Given the description of an element on the screen output the (x, y) to click on. 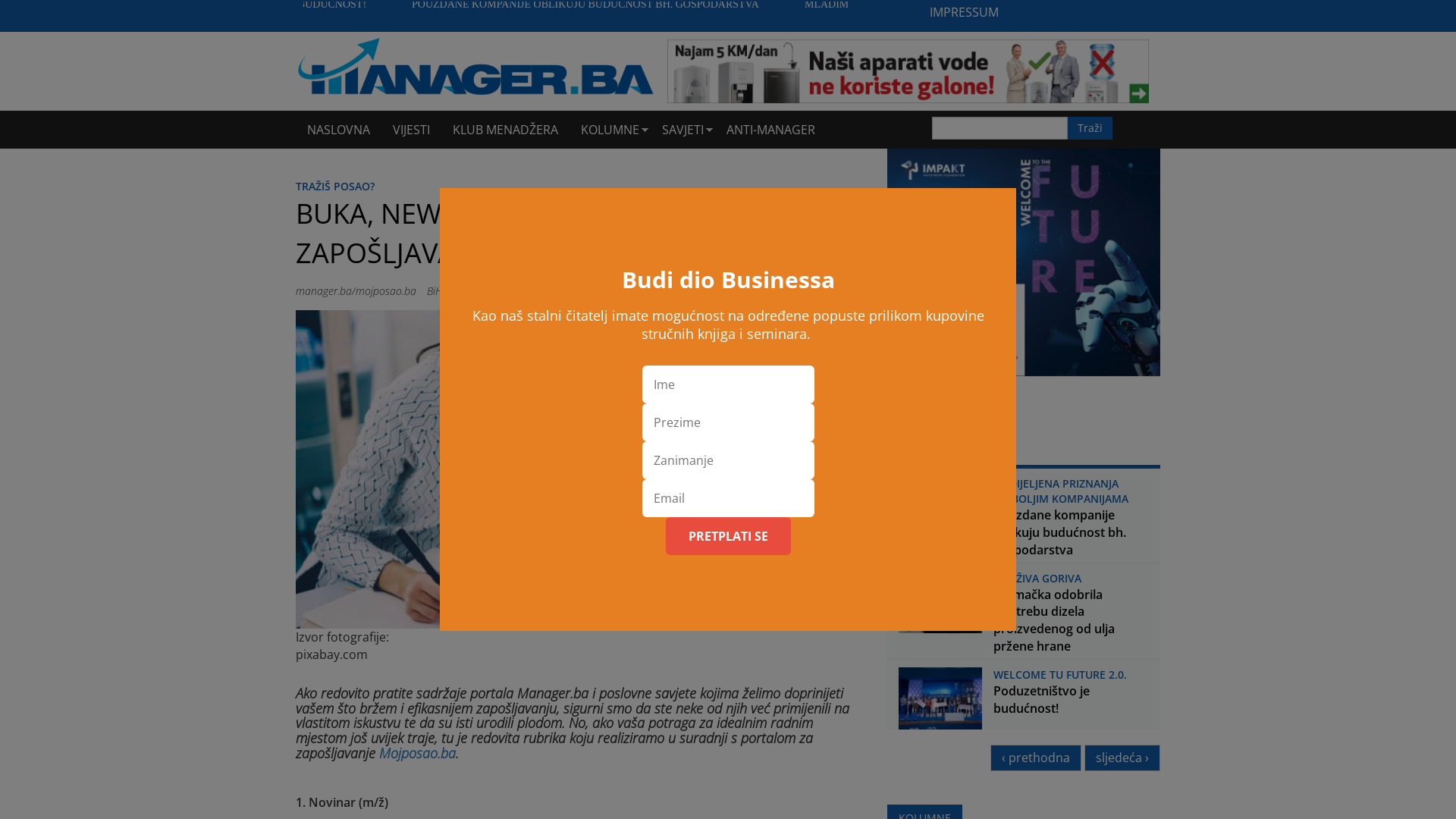
VIJESTI Element type: text (411, 129)
ANTI-MANAGER Element type: text (770, 129)
IMPRESSUM Element type: text (963, 12)
Mojposao.ba Element type: text (417, 752)
NASLOVNA Element type: text (338, 129)
